Given the description of an element on the screen output the (x, y) to click on. 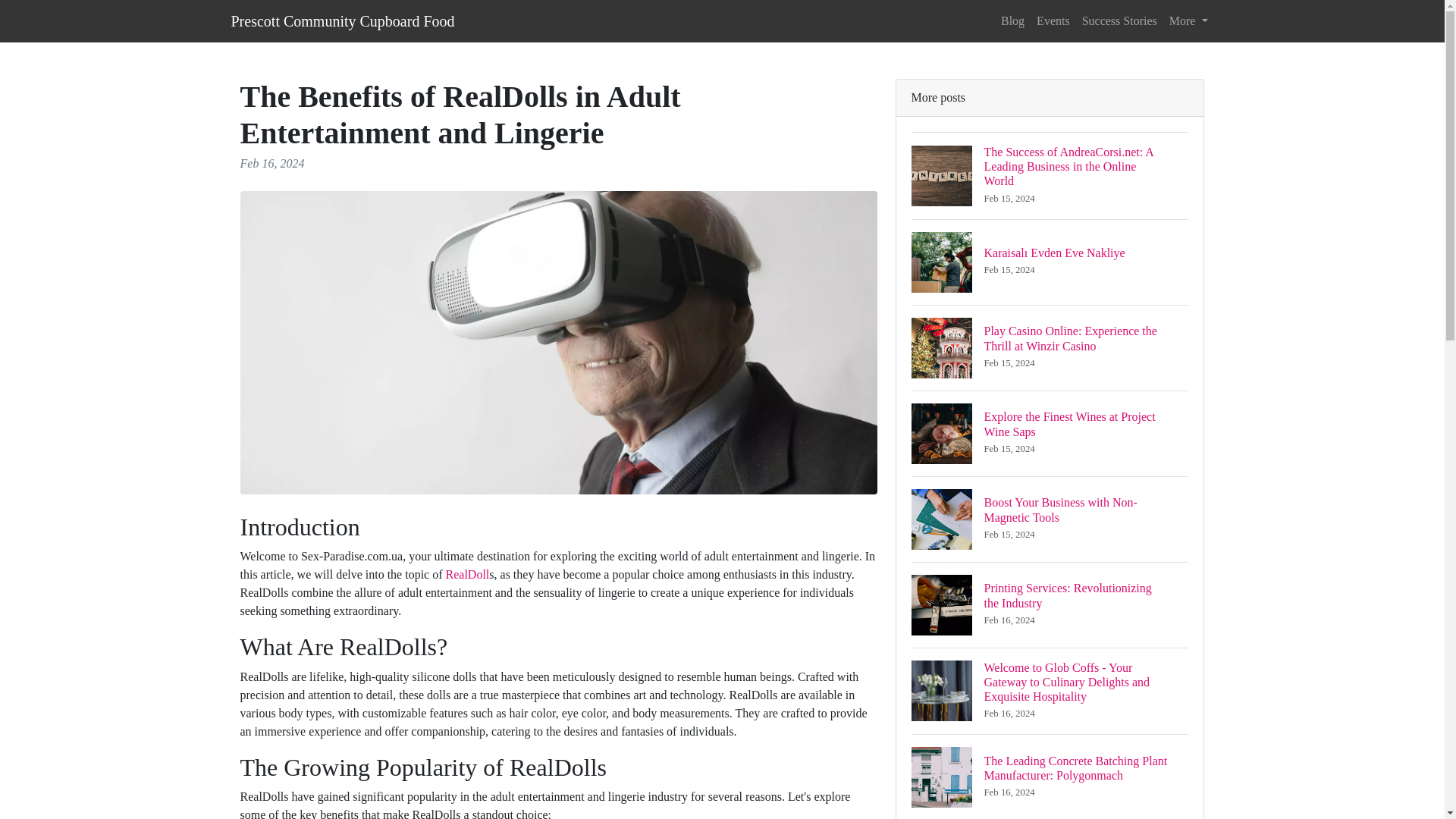
Success Stories (1119, 20)
Prescott Community Cupboard Food (1050, 604)
Events (342, 20)
Blog (1052, 20)
More (1050, 518)
RealDoll (1012, 20)
